Given the description of an element on the screen output the (x, y) to click on. 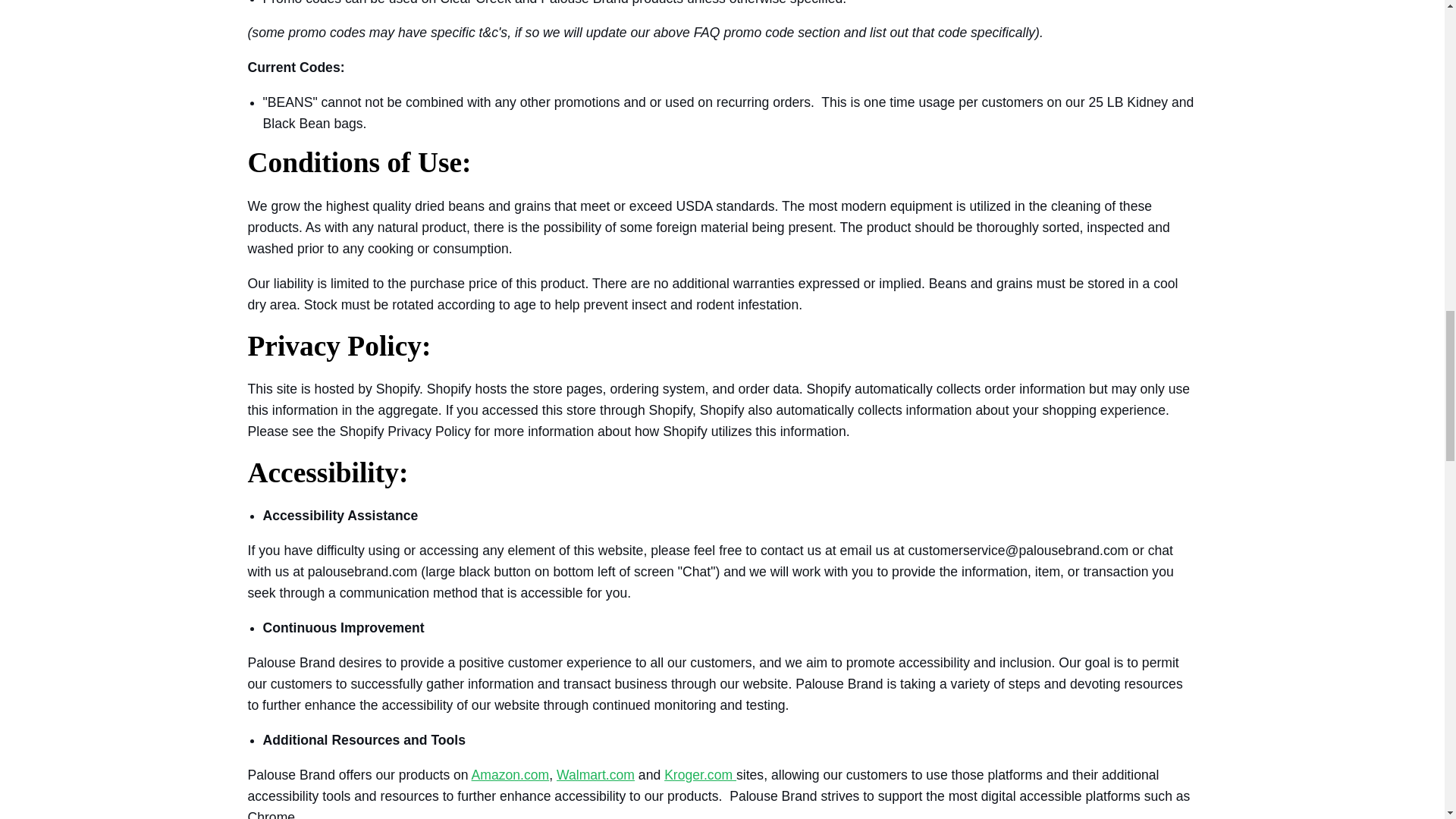
Palouse Brand Products on Kroger (697, 774)
Palouse Brand products on Walmart.com (595, 774)
Palouse Brand Products on Amazon (510, 774)
